Given the description of an element on the screen output the (x, y) to click on. 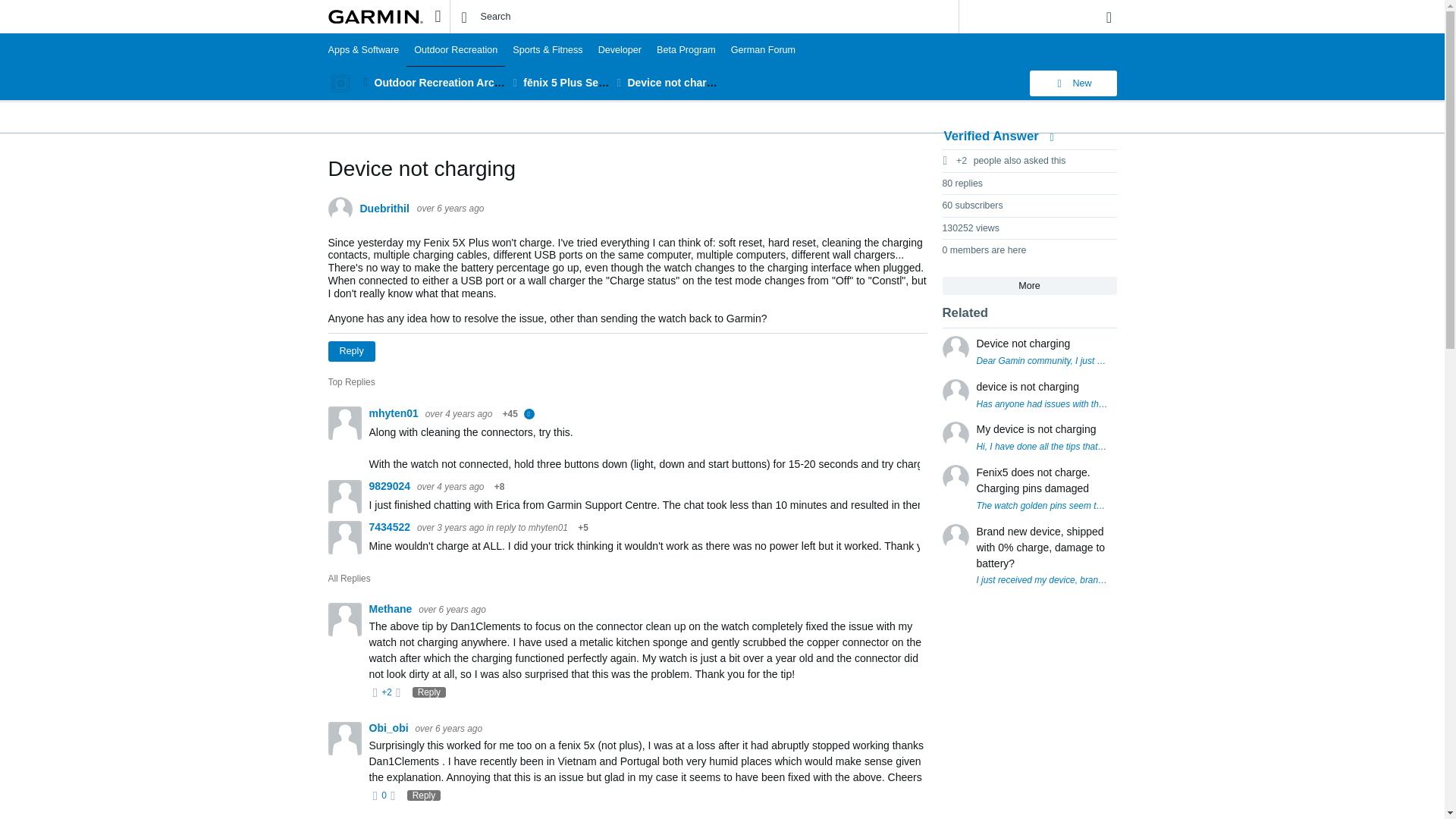
Developer (620, 49)
Beta Program (686, 49)
More (1029, 285)
My device is not charging (1036, 429)
More (365, 82)
Device not charging (678, 82)
over 6 years ago (450, 208)
Join or sign in (1108, 17)
Site (437, 15)
German Forum (763, 49)
New (1072, 83)
User (1108, 17)
